Given the description of an element on the screen output the (x, y) to click on. 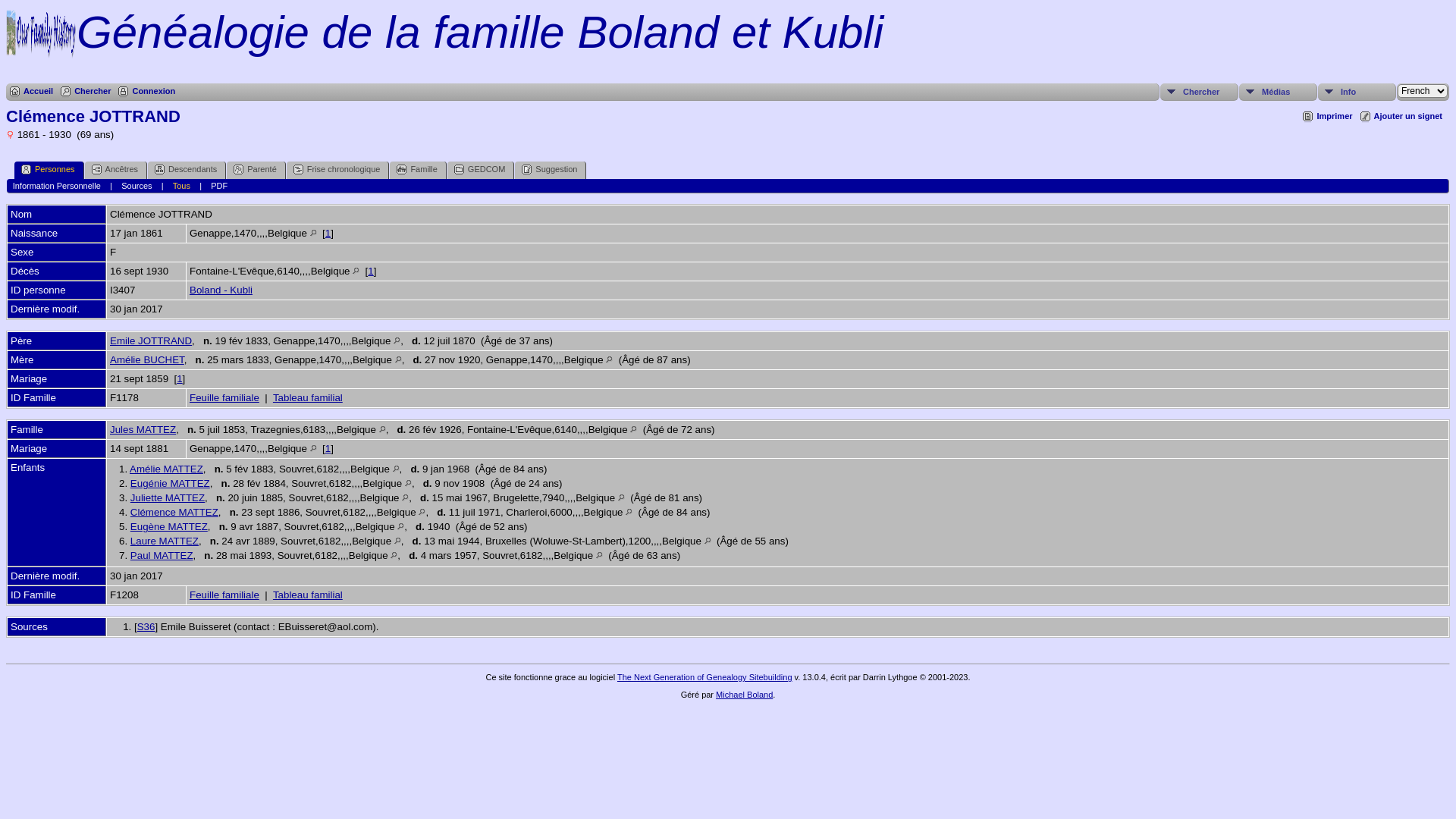
Connexion Element type: text (146, 91)
Info Element type: text (1356, 91)
Feuille familiale Element type: text (224, 397)
The Next Generation of Genealogy Sitebuilding Element type: text (704, 676)
Tous Element type: text (181, 185)
1 Element type: text (327, 448)
1 Element type: text (179, 378)
Tableau familial Element type: text (307, 594)
Boland - Kubli Element type: text (220, 289)
Juliette MATTEZ Element type: text (167, 497)
Feuille familiale Element type: text (224, 594)
1 Element type: text (370, 270)
Ajouter un signet Element type: text (1401, 116)
S36 Element type: text (146, 626)
Tableau familial Element type: text (307, 397)
Personnes Element type: text (49, 169)
Suggestion Element type: text (550, 169)
Descendants Element type: text (186, 169)
Laure MATTEZ Element type: text (164, 540)
Imprimer Element type: text (1327, 116)
Frise chronologique Element type: text (337, 169)
Accueil Element type: text (31, 91)
Michael Boland Element type: text (743, 694)
Chercher Element type: text (85, 91)
1 Element type: text (327, 232)
Information Personnelle Element type: text (56, 185)
Jules MATTEZ Element type: text (142, 429)
Sources  Element type: text (30, 626)
GEDCOM Element type: text (480, 169)
Paul MATTEZ Element type: text (161, 555)
Famille Element type: text (417, 169)
PDF Element type: text (218, 185)
Sources Element type: text (136, 185)
Emile JOTTRAND Element type: text (150, 340)
Chercher Element type: text (1199, 91)
